Given the description of an element on the screen output the (x, y) to click on. 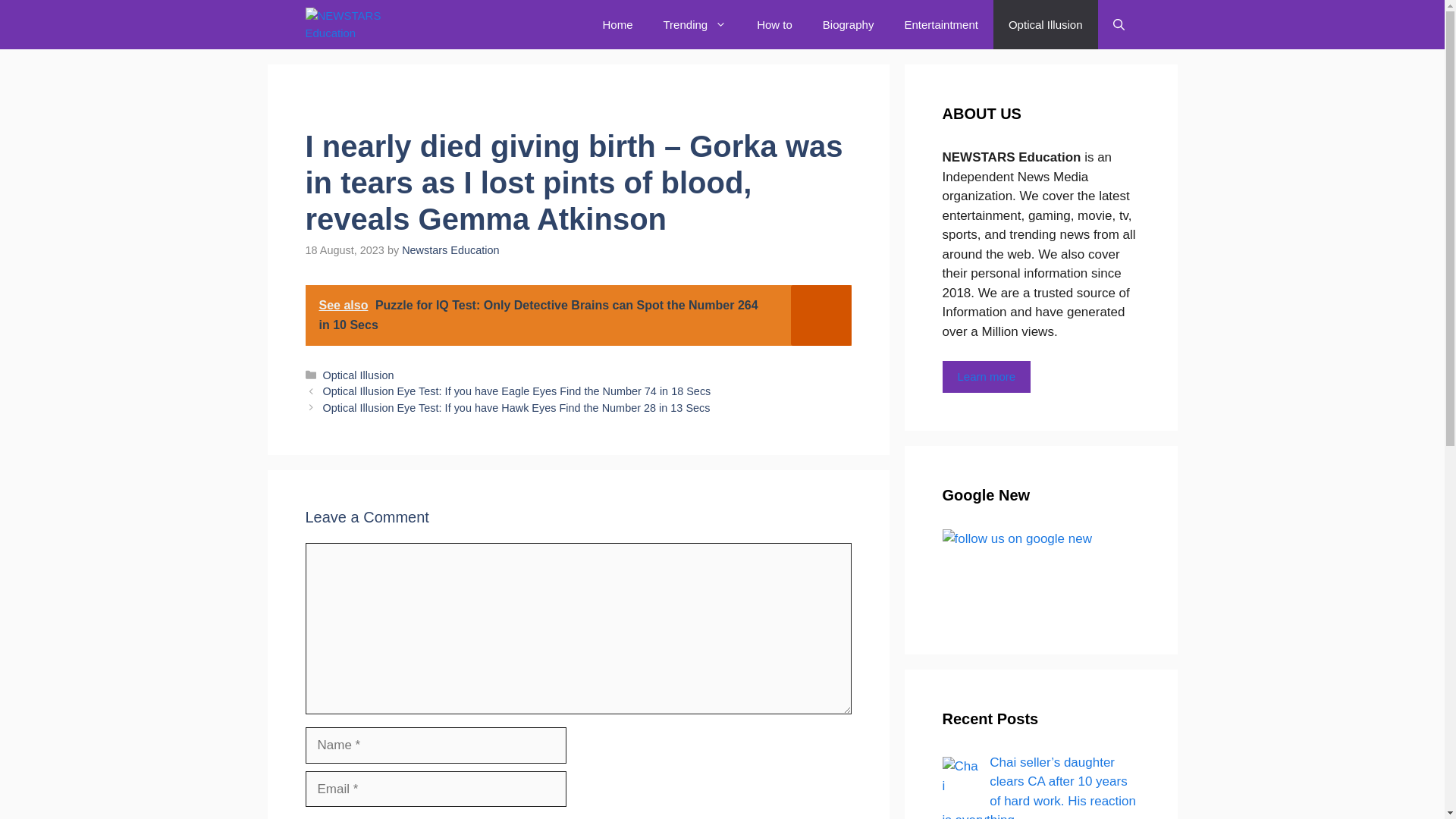
How to (774, 24)
Newstars Education (450, 250)
Entertaintment (940, 24)
Optical Illusion (1044, 24)
View all posts by Newstars Education (450, 250)
Learn more (986, 377)
Optical Illusion (358, 375)
NEWSTARS Education (367, 24)
Trending (694, 24)
Home (616, 24)
Biography (848, 24)
